Given the description of an element on the screen output the (x, y) to click on. 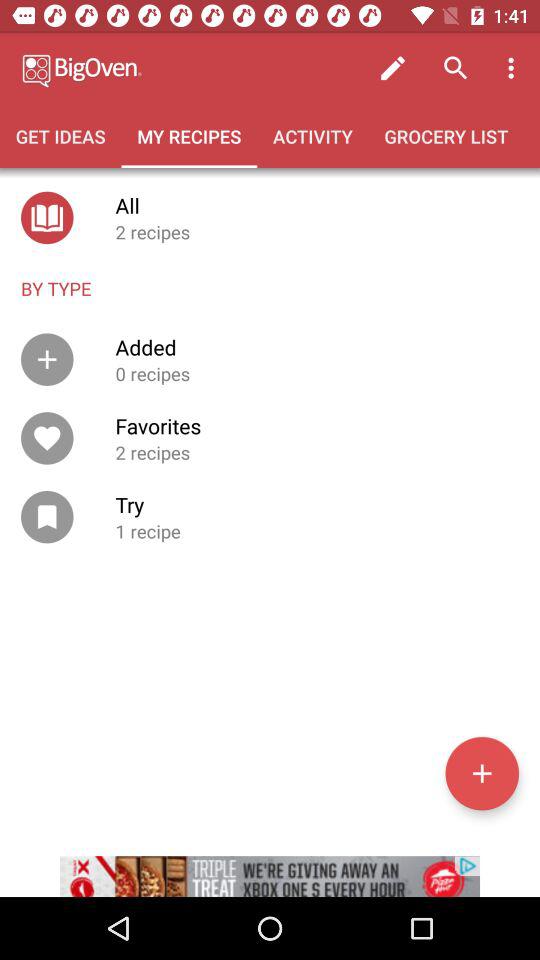
go to advertisement (270, 864)
